Given the description of an element on the screen output the (x, y) to click on. 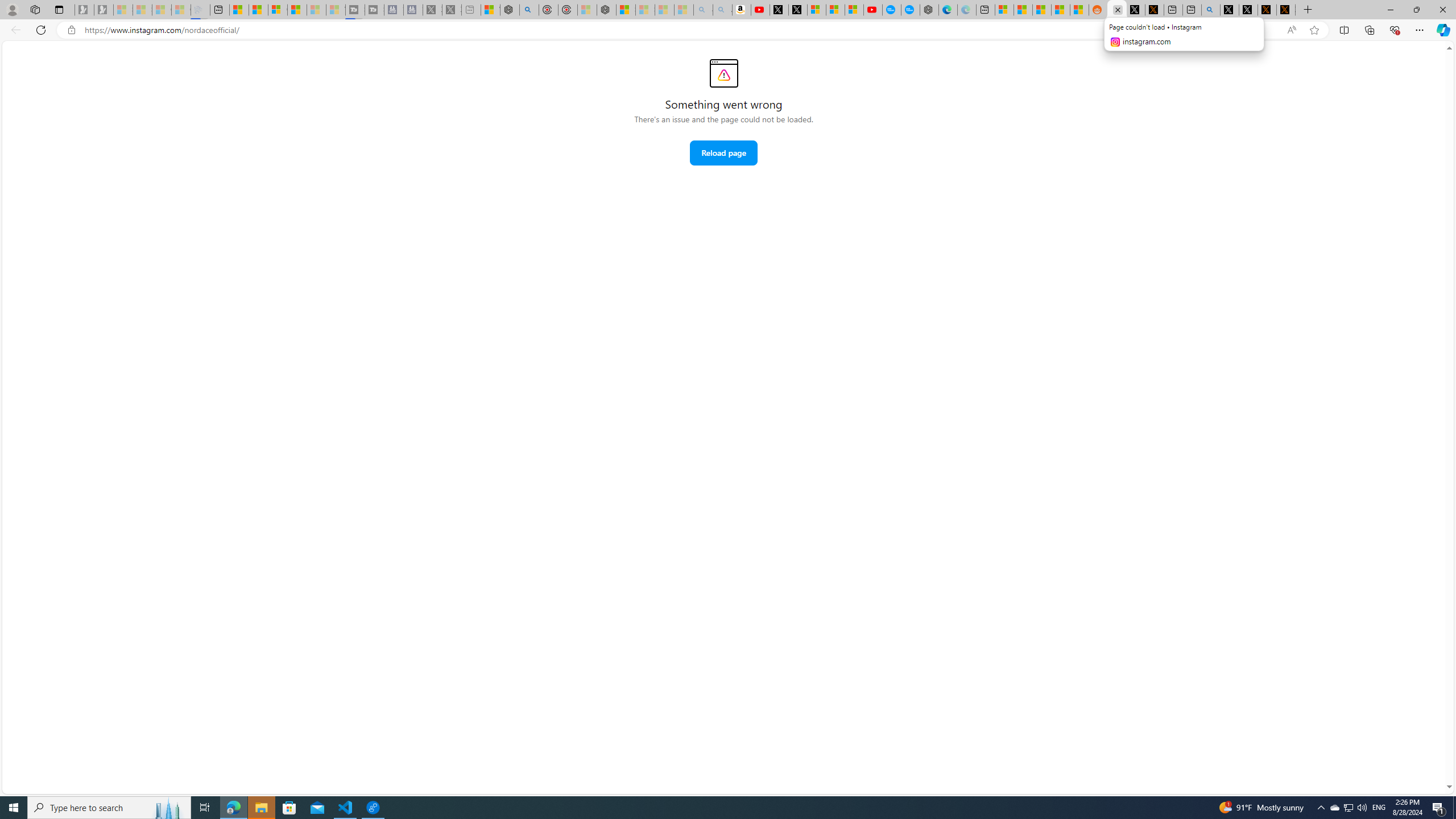
Opinion: Op-Ed and Commentary - USA TODAY (891, 9)
poe - Search (529, 9)
The most popular Google 'how to' searches (910, 9)
Shanghai, China Weather trends | Microsoft Weather (1079, 9)
